Given the description of an element on the screen output the (x, y) to click on. 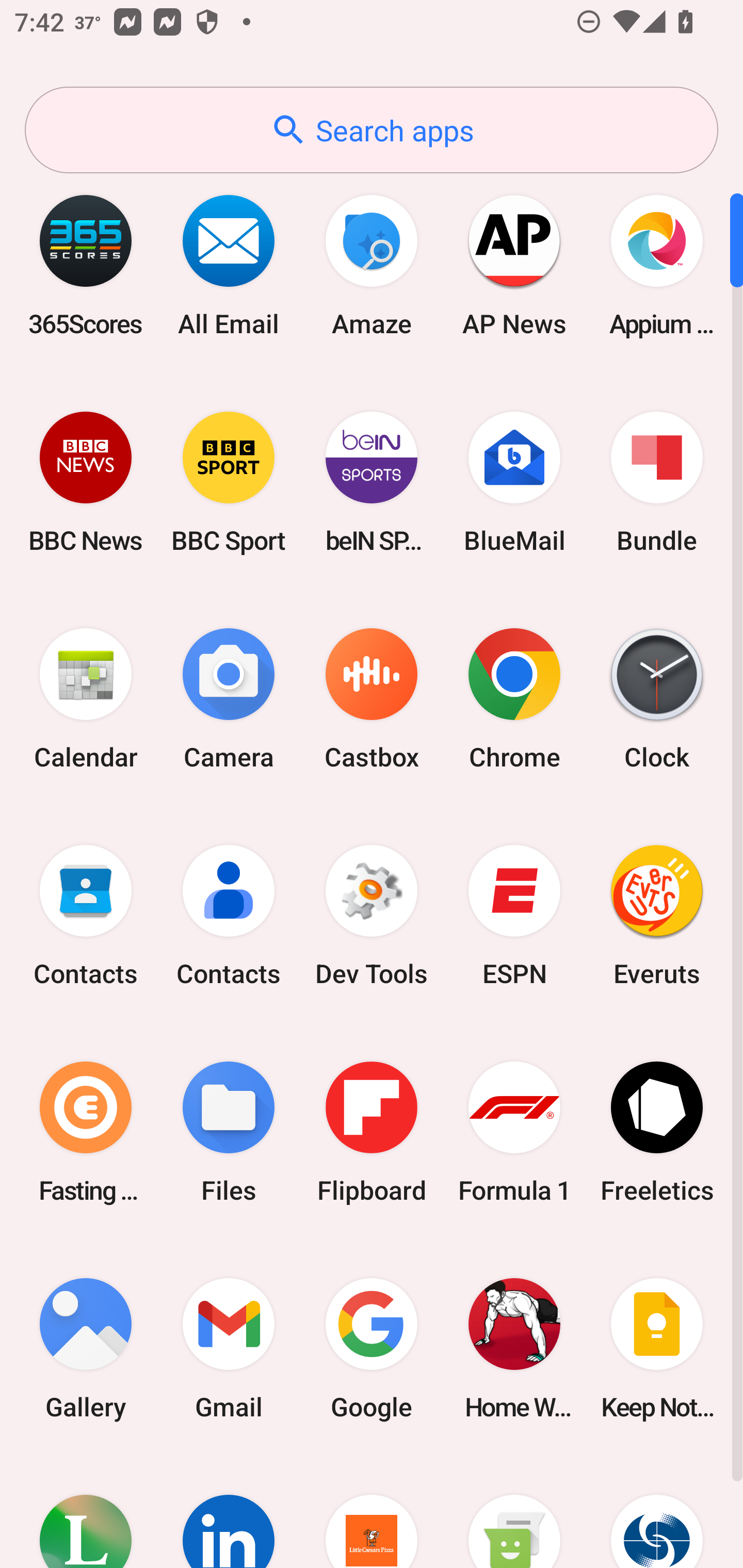
  Search apps (371, 130)
365Scores (85, 264)
All Email (228, 264)
Amaze (371, 264)
AP News (514, 264)
Appium Settings (656, 264)
BBC News (85, 482)
BBC Sport (228, 482)
beIN SPORTS (371, 482)
BlueMail (514, 482)
Bundle (656, 482)
Calendar (85, 699)
Camera (228, 699)
Castbox (371, 699)
Chrome (514, 699)
Clock (656, 699)
Contacts (85, 915)
Contacts (228, 915)
Dev Tools (371, 915)
ESPN (514, 915)
Everuts (656, 915)
Fasting Coach (85, 1131)
Files (228, 1131)
Flipboard (371, 1131)
Formula 1 (514, 1131)
Freeletics (656, 1131)
Gallery (85, 1348)
Gmail (228, 1348)
Google (371, 1348)
Home Workout (514, 1348)
Keep Notes (656, 1348)
